Given the description of an element on the screen output the (x, y) to click on. 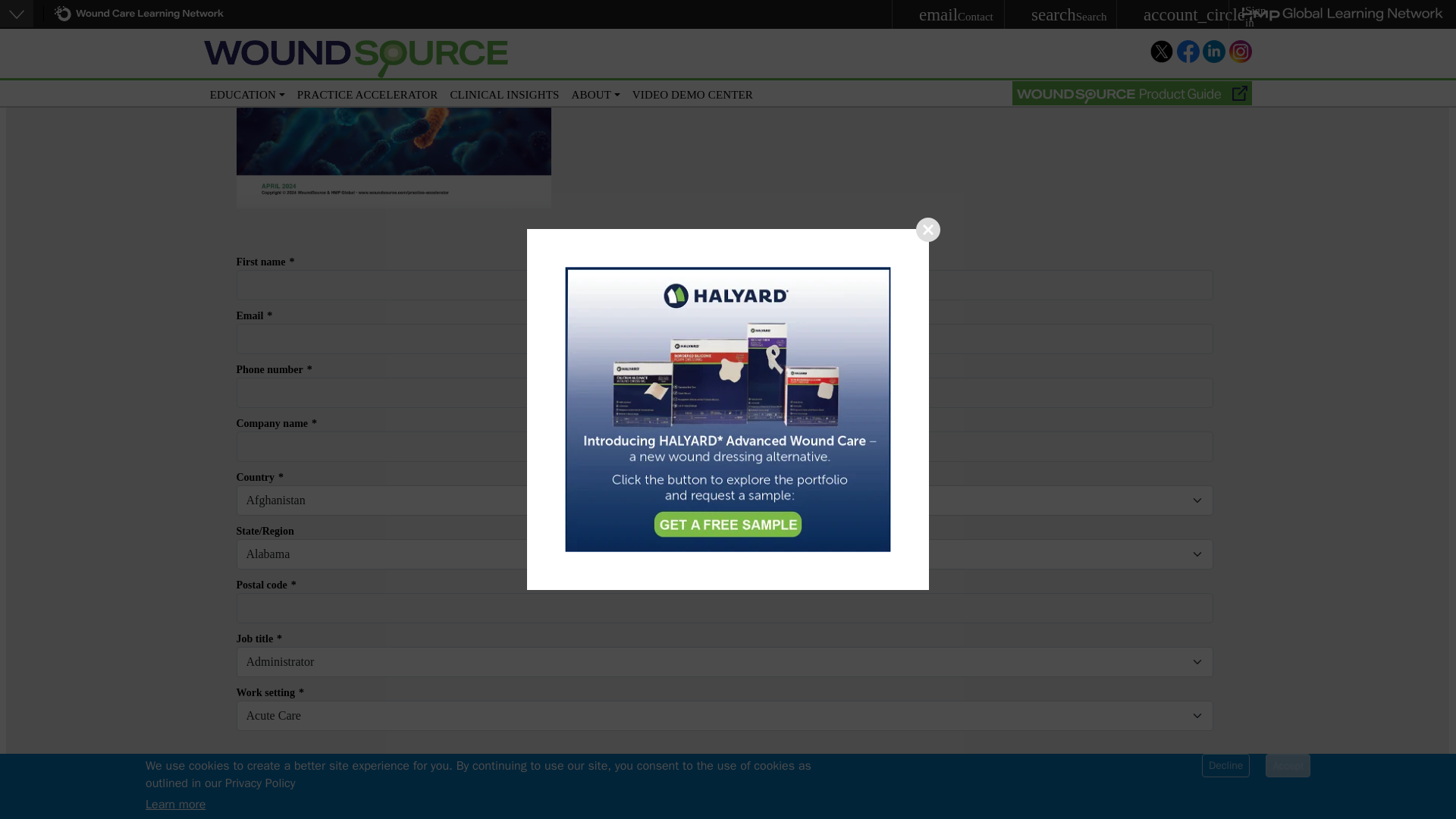
Submit (727, 786)
